Given the description of an element on the screen output the (x, y) to click on. 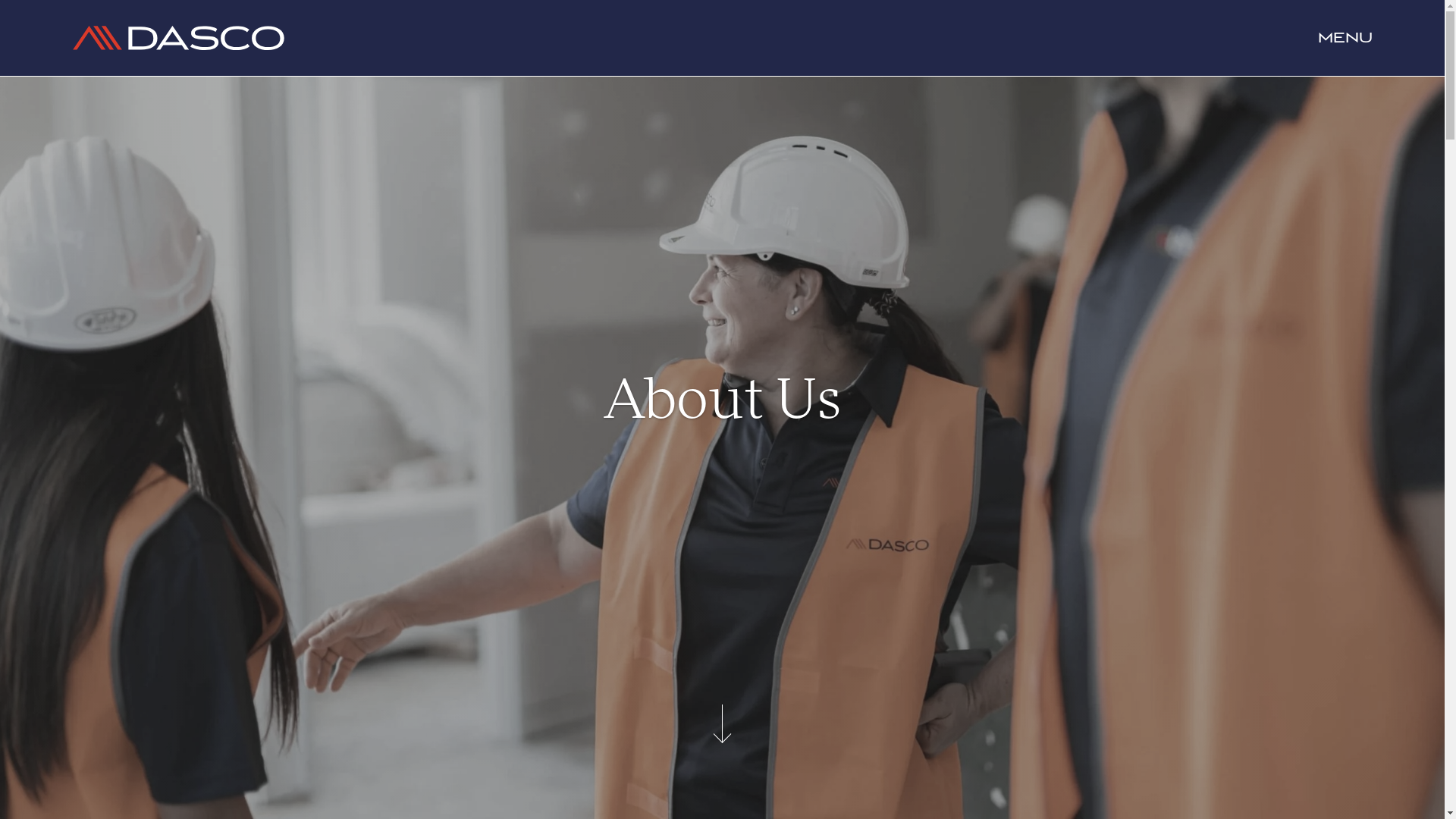
Dasco Element type: hover (178, 37)
